Given the description of an element on the screen output the (x, y) to click on. 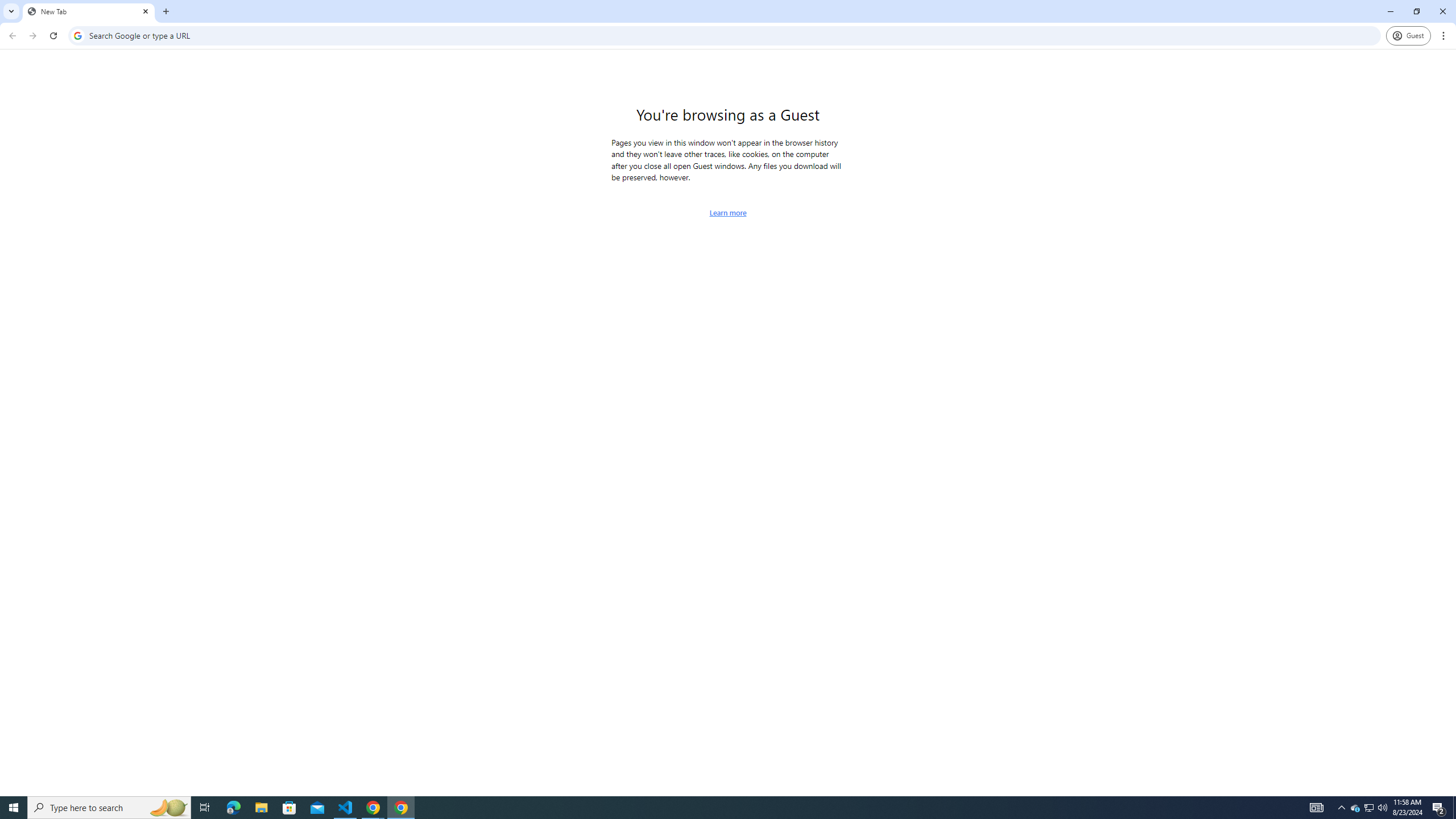
Search icon (77, 35)
Guest (1408, 35)
New Tab (88, 11)
Learn more about browsing as a guest (727, 212)
